Given the description of an element on the screen output the (x, y) to click on. 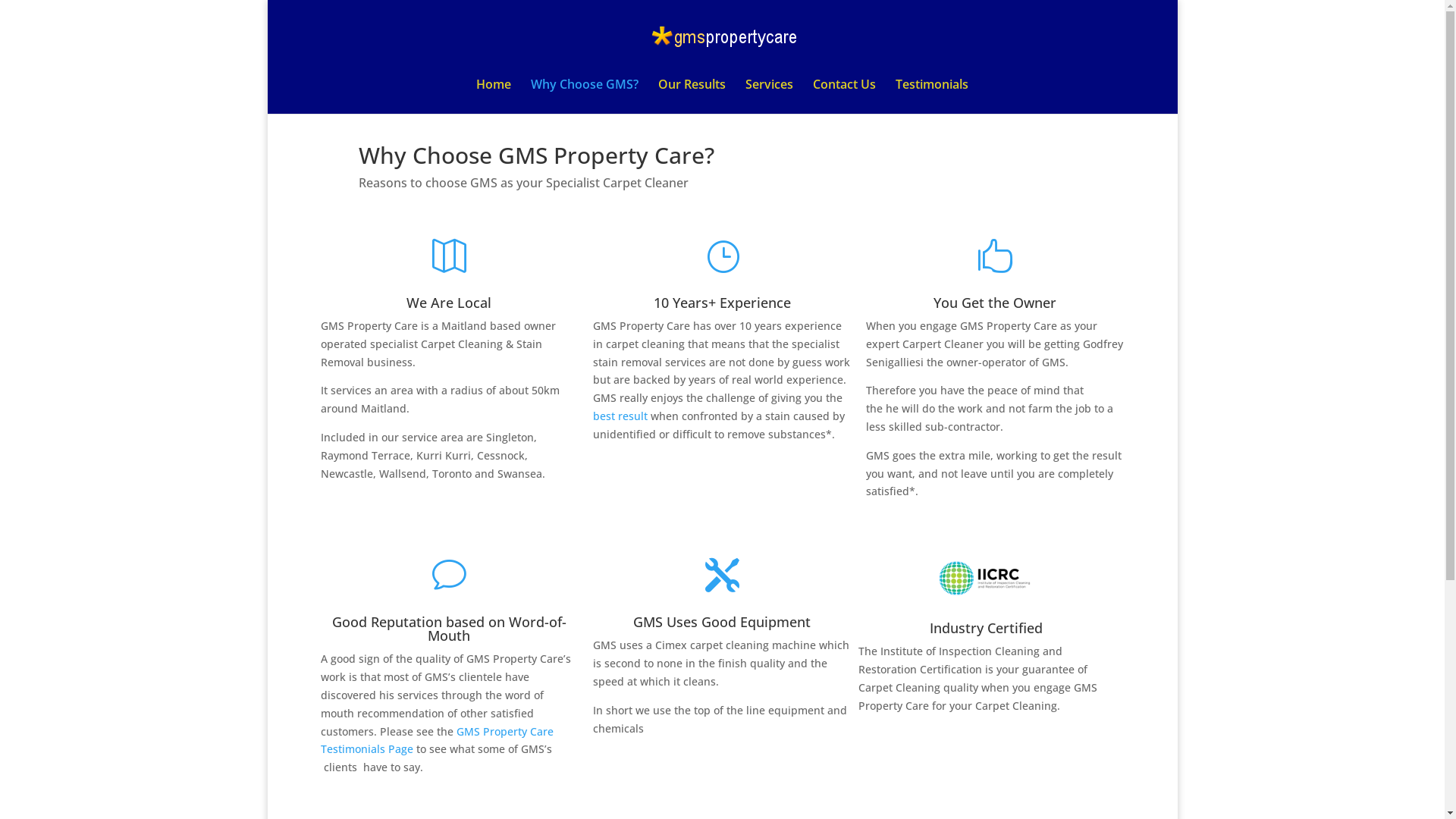
GMS Uses Good Equipment Element type: text (721, 621)
Services Element type: text (769, 95)
GMS Property Care Testimonials Page Element type: text (436, 740)
best result Element type: text (620, 415)
Our Results Element type: text (691, 95)
v Element type: text (448, 575)
Home Element type: text (493, 95)
Testimonials Element type: text (931, 95)
Industry Certified Element type: text (985, 627)
Good Reputation based on Word-of-Mouth Element type: text (449, 628)
Why Choose GMS? Element type: text (584, 95)
Contact Us Element type: text (843, 95)
